Given the description of an element on the screen output the (x, y) to click on. 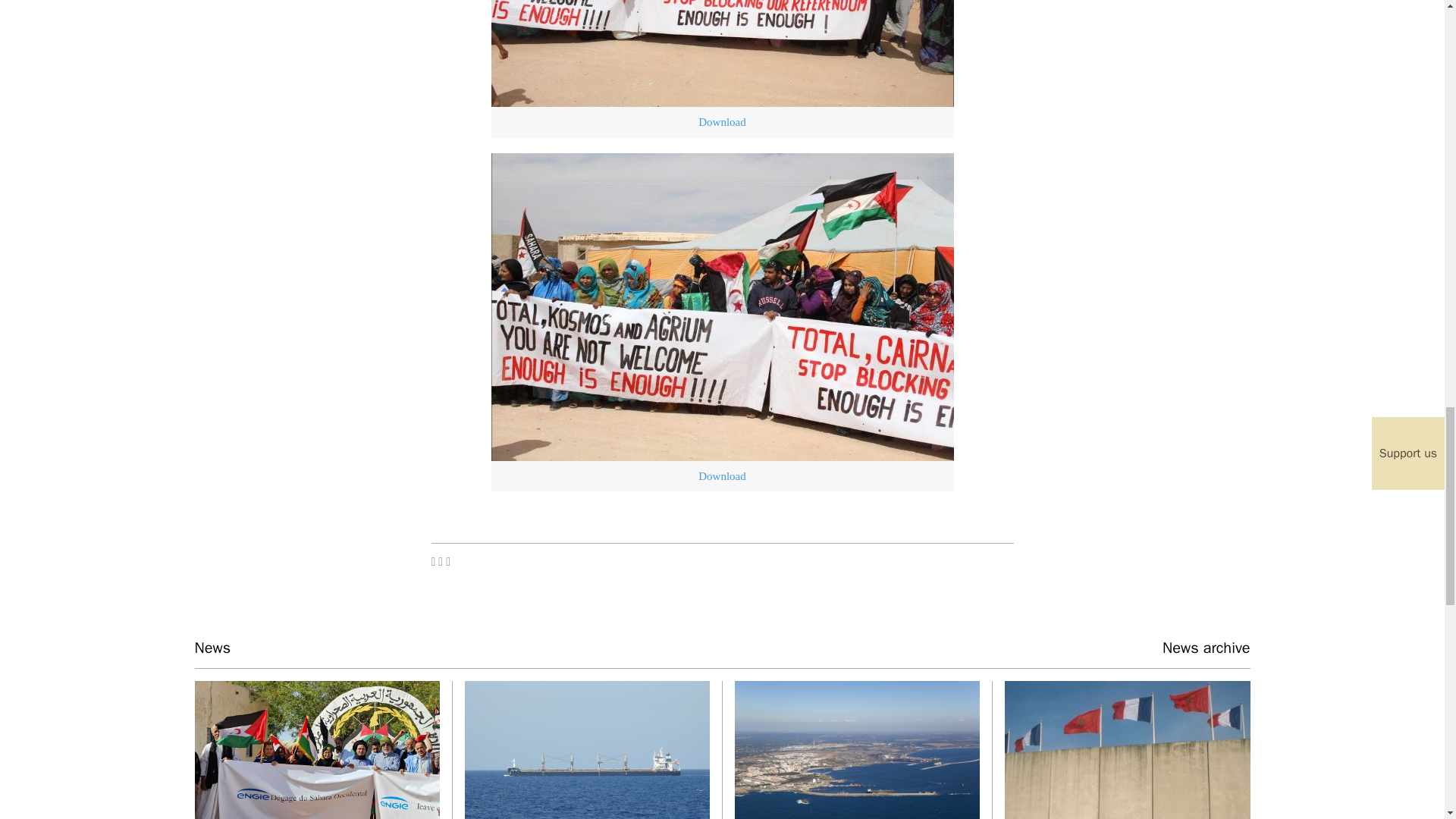
News archive (1205, 647)
Download (721, 121)
Download (721, 476)
